Given the description of an element on the screen output the (x, y) to click on. 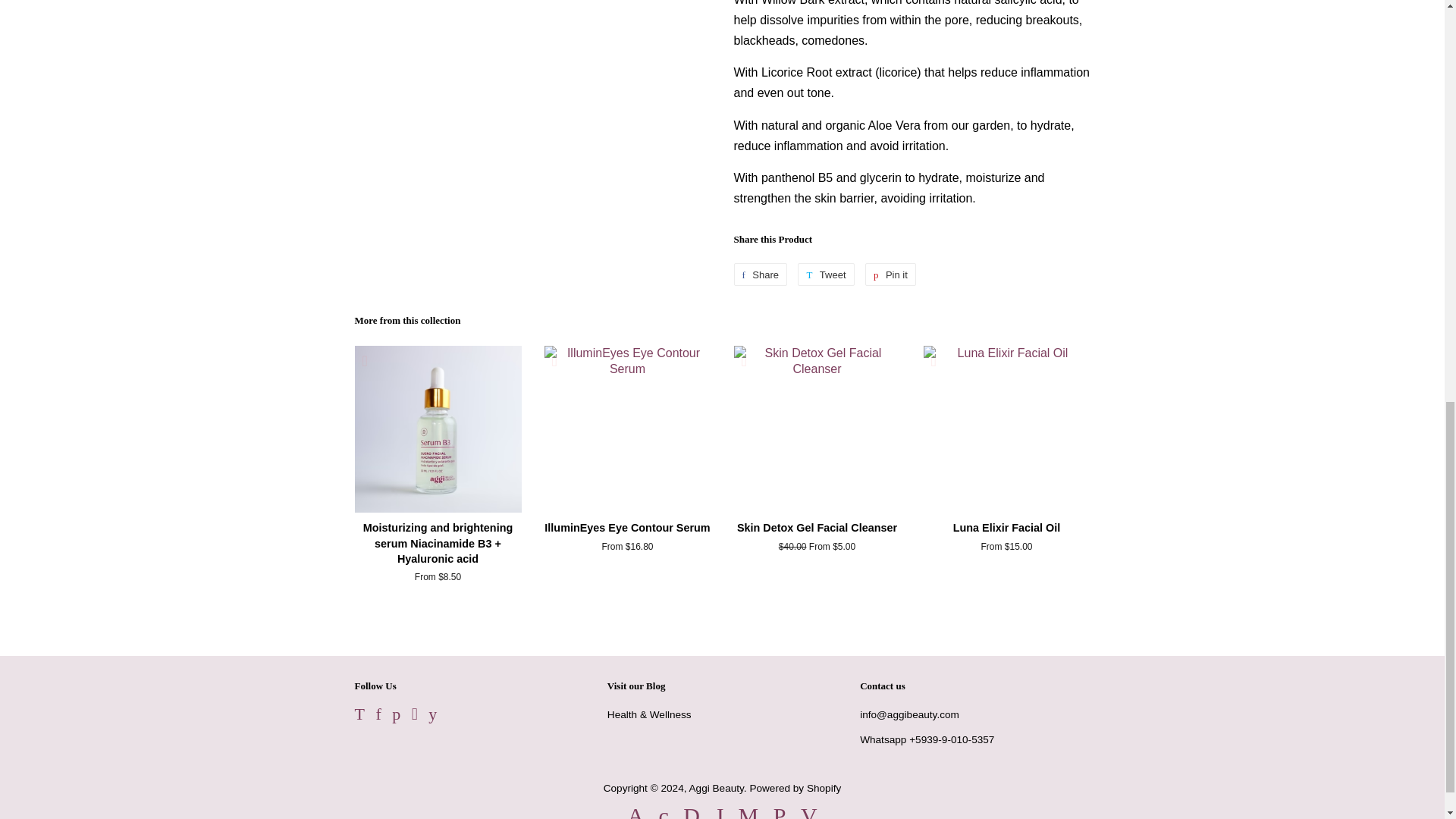
Pin on Pinterest (889, 273)
Tweet on Twitter (825, 273)
Share on Facebook (760, 273)
